Given the description of an element on the screen output the (x, y) to click on. 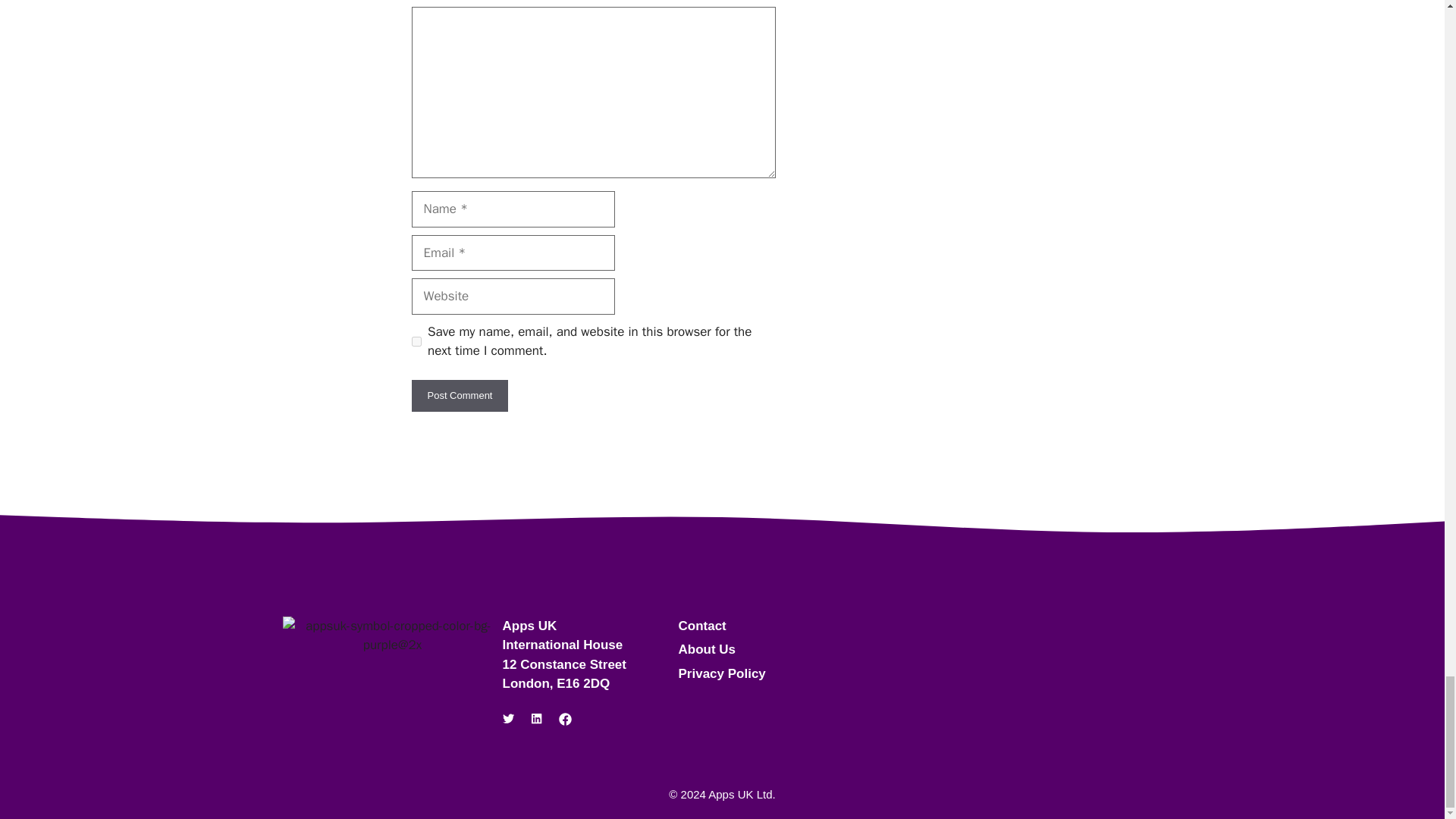
yes (415, 341)
Post Comment (459, 395)
Post Comment (459, 395)
